Given the description of an element on the screen output the (x, y) to click on. 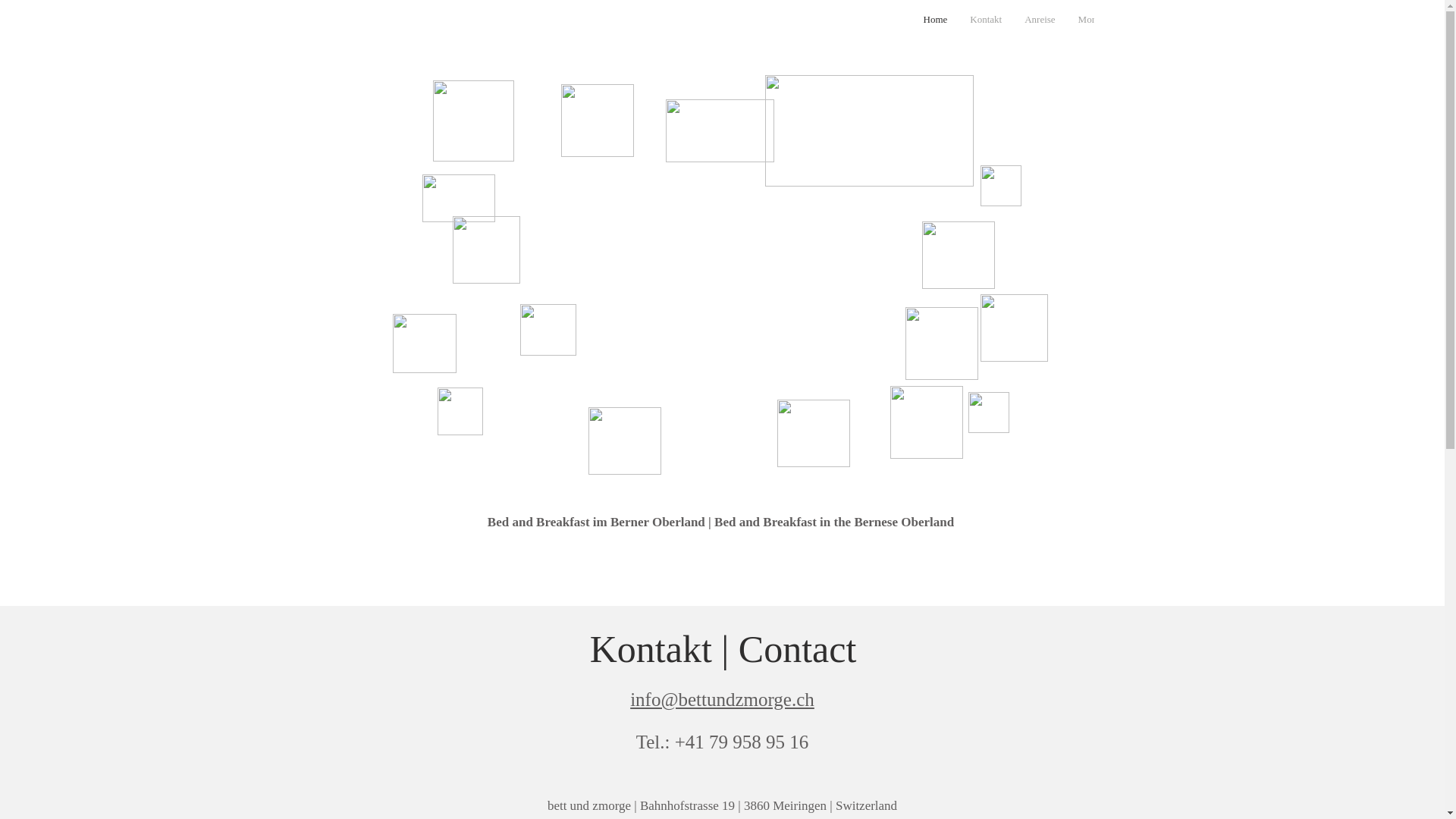
Home Element type: text (934, 23)
info@bettundzmorge.ch Element type: text (722, 699)
Anreise Element type: text (1039, 23)
Kontakt Element type: text (985, 23)
